Given the description of an element on the screen output the (x, y) to click on. 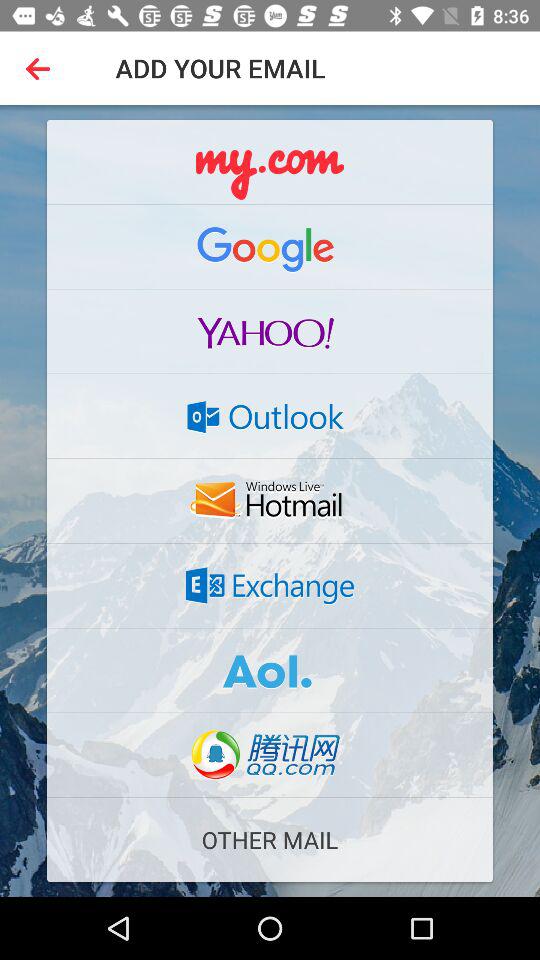
click to yahoo option (269, 331)
